Given the description of an element on the screen output the (x, y) to click on. 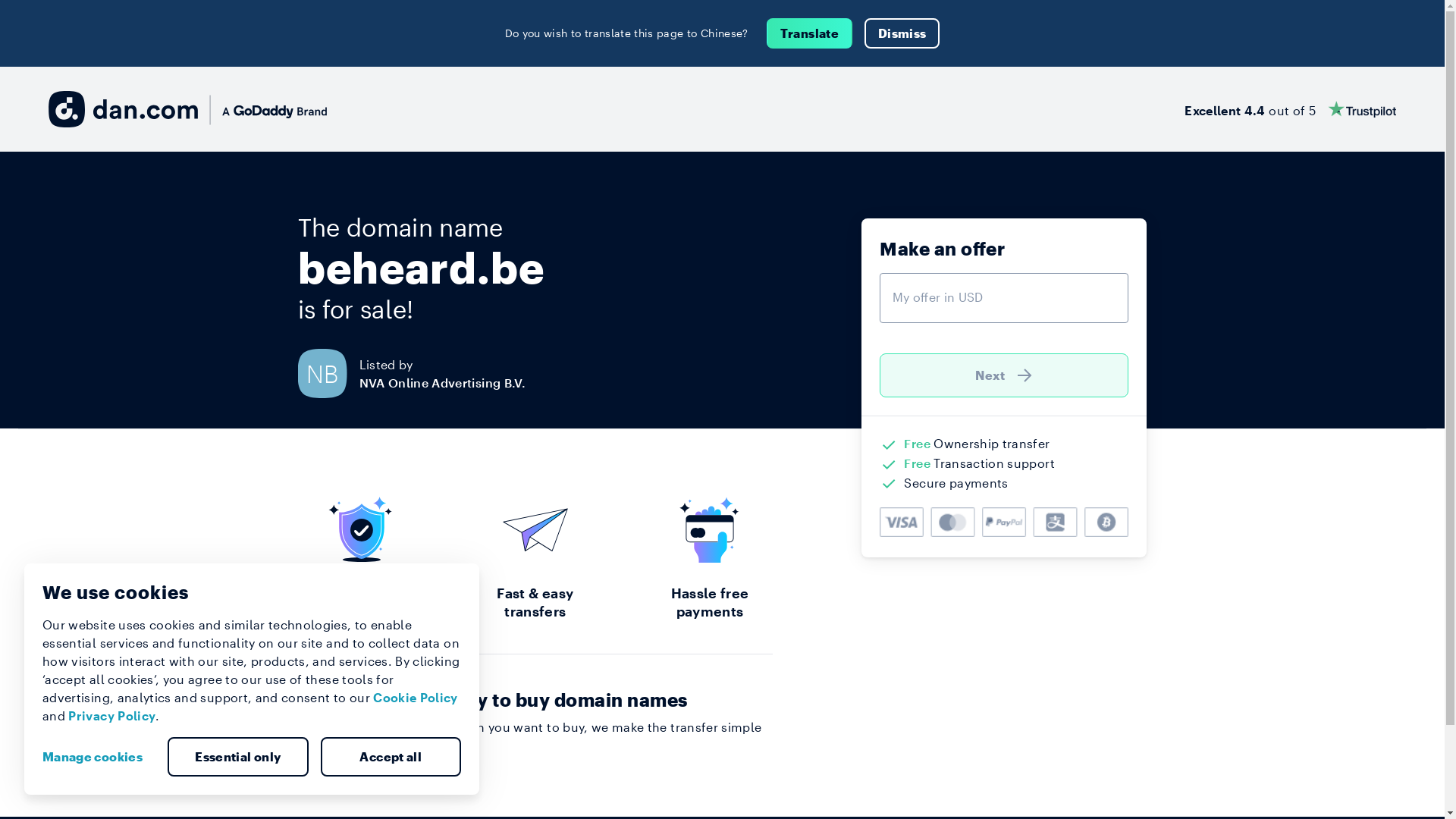
Dismiss Element type: text (901, 33)
Cookie Policy Element type: text (415, 697)
Translate Element type: text (809, 33)
Next
) Element type: text (1003, 375)
Accept all Element type: text (390, 756)
Manage cookies Element type: text (98, 756)
Excellent 4.4 out of 5 Element type: text (1290, 109)
Privacy Policy Element type: text (111, 715)
Essential only Element type: text (237, 756)
